Given the description of an element on the screen output the (x, y) to click on. 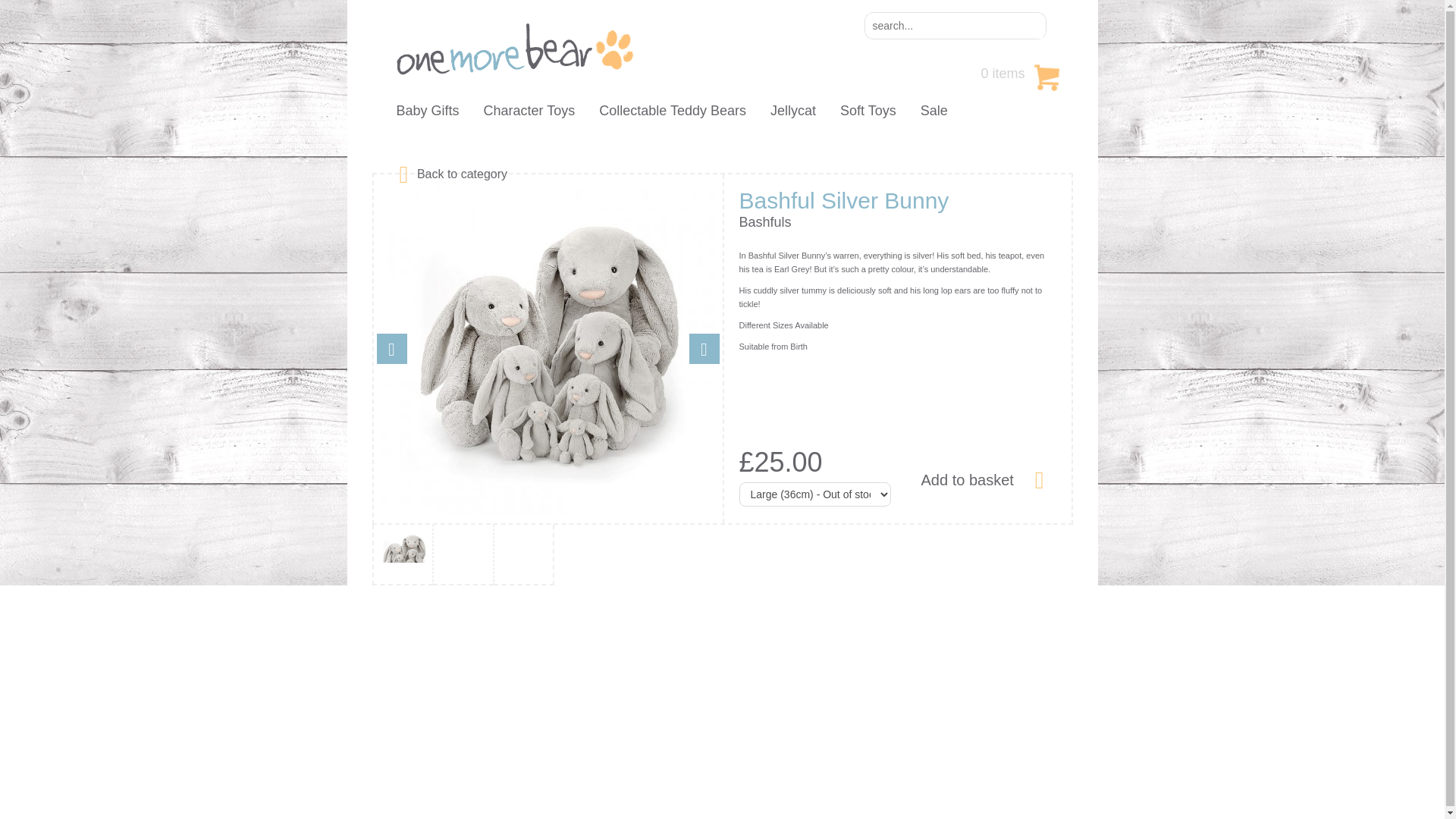
Jellycat (792, 110)
Add to basket (980, 478)
Terms and Conditions (610, 703)
Back to category (462, 172)
Delivery Information (418, 764)
Gift Vouchers (403, 734)
Character Toys (529, 110)
Soft Toys (868, 110)
Baby Gifts (427, 110)
Contact Us (397, 703)
Sale (933, 110)
Site Map (580, 734)
About Us (392, 673)
Search (1029, 26)
Collectable Teddy Bears (671, 110)
